Given the description of an element on the screen output the (x, y) to click on. 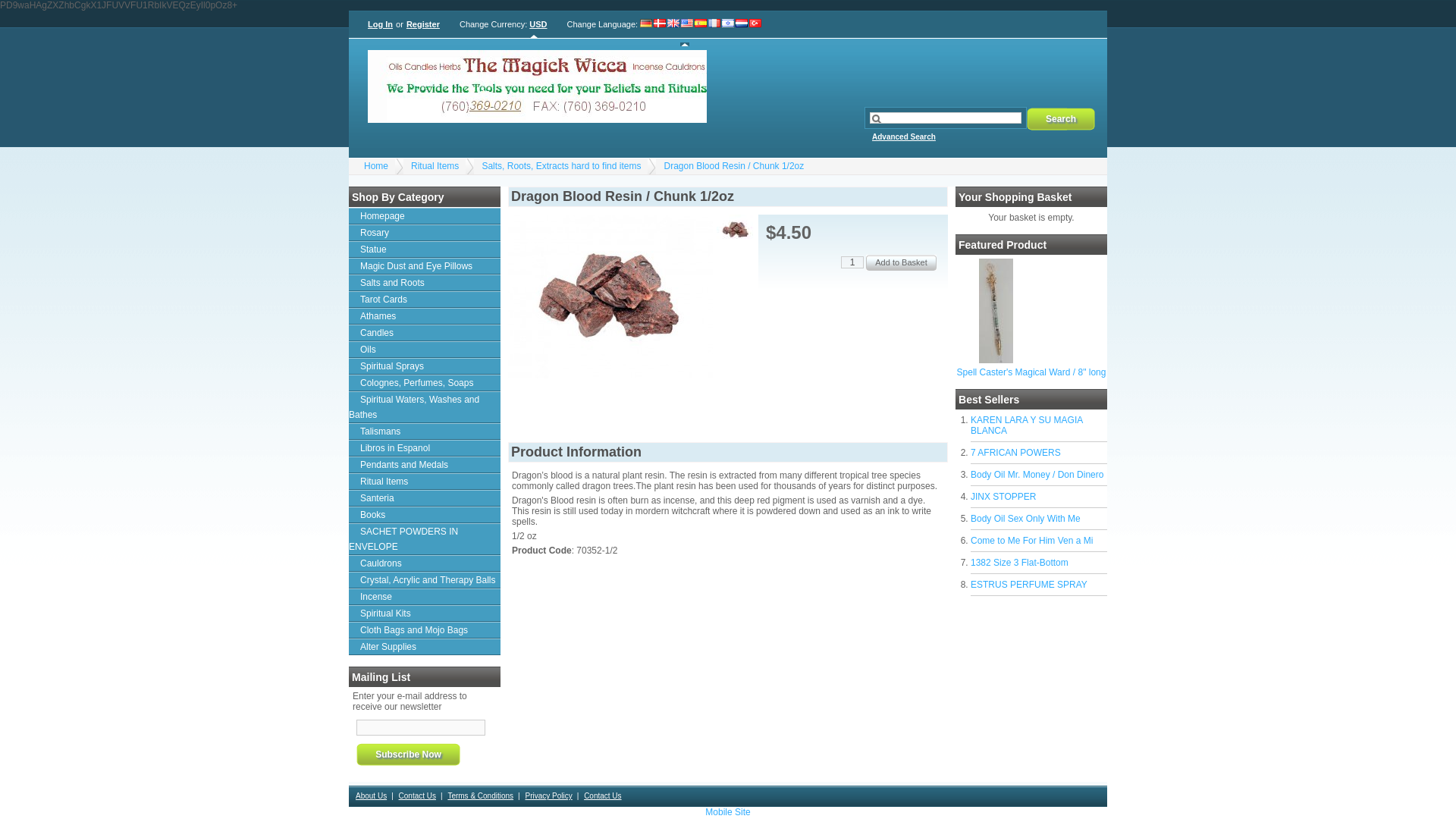
Salts, Roots, Extracts hard to find items (560, 165)
Register (423, 23)
Rosary (424, 232)
Search our store (945, 117)
Salts and Roots (424, 282)
Salts and Roots (424, 282)
Home (376, 165)
Athames (424, 315)
Tarot Cards (424, 299)
Add to Basket (901, 262)
1 (852, 262)
Statue (424, 248)
Athames (424, 315)
Oils (424, 349)
Homepage (424, 216)
